Given the description of an element on the screen output the (x, y) to click on. 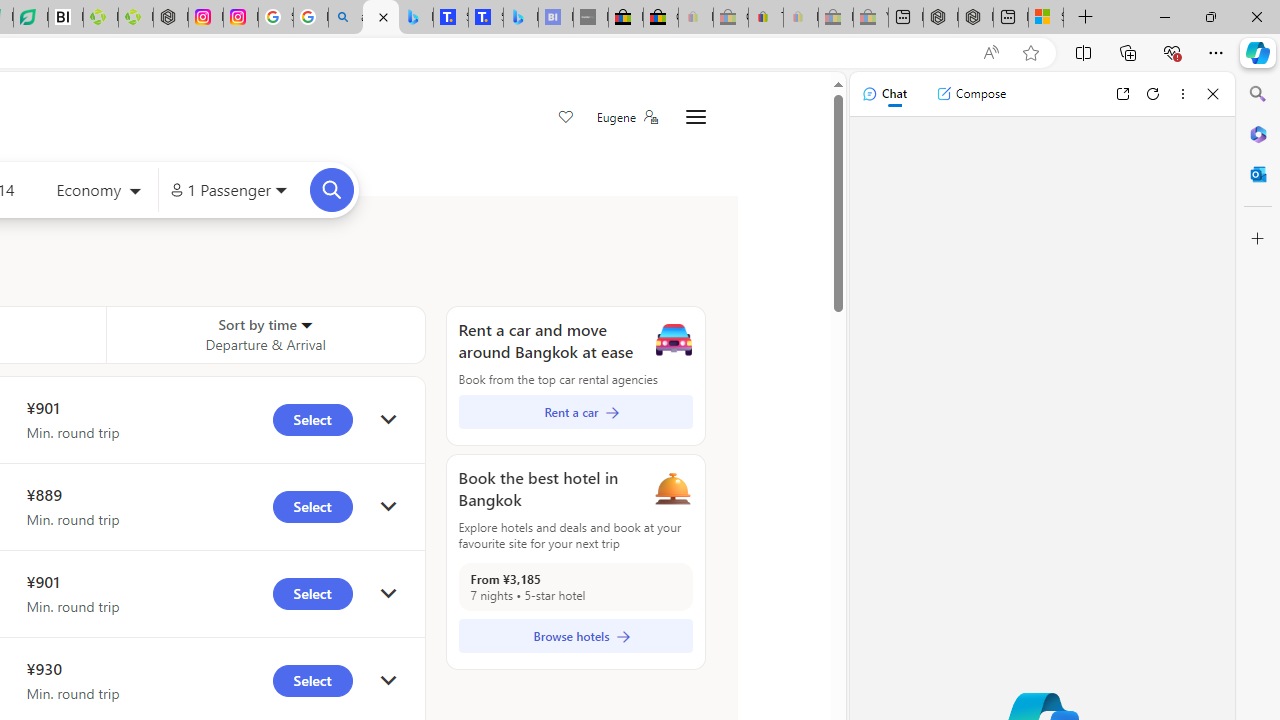
Compose (971, 93)
